Given the description of an element on the screen output the (x, y) to click on. 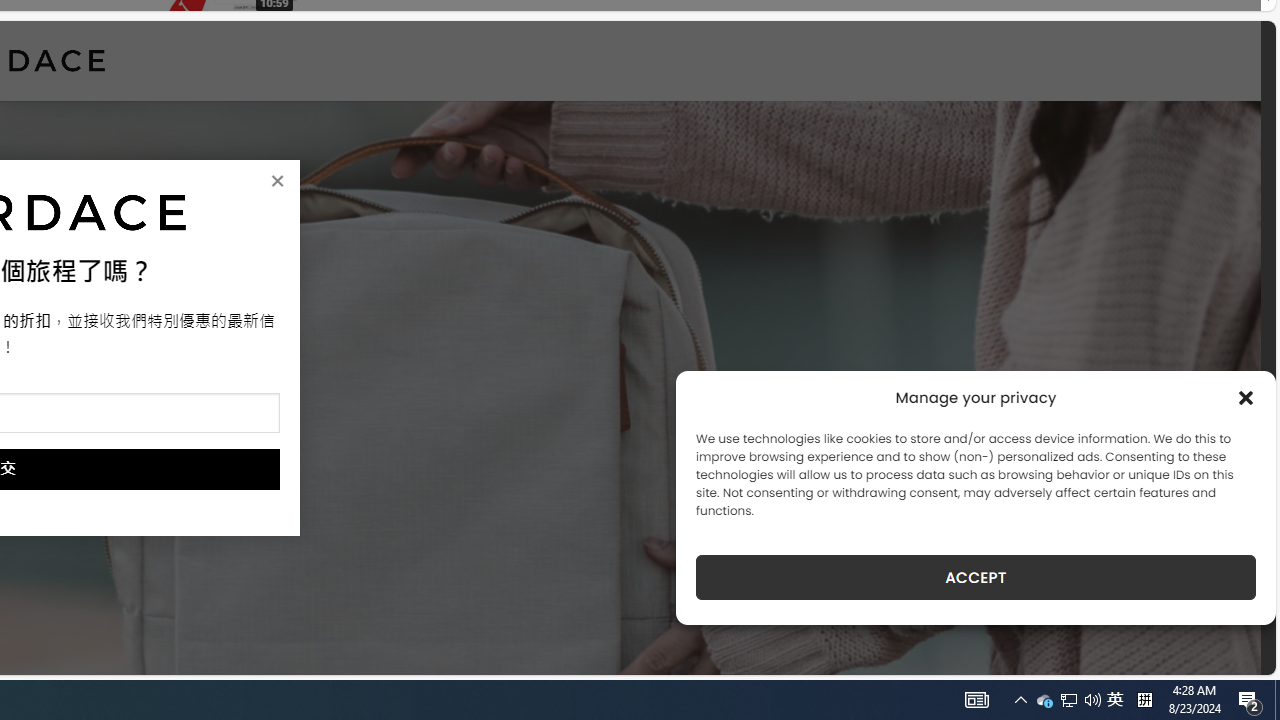
Class: cmplz-close (1245, 398)
ACCEPT (975, 577)
